Given the description of an element on the screen output the (x, y) to click on. 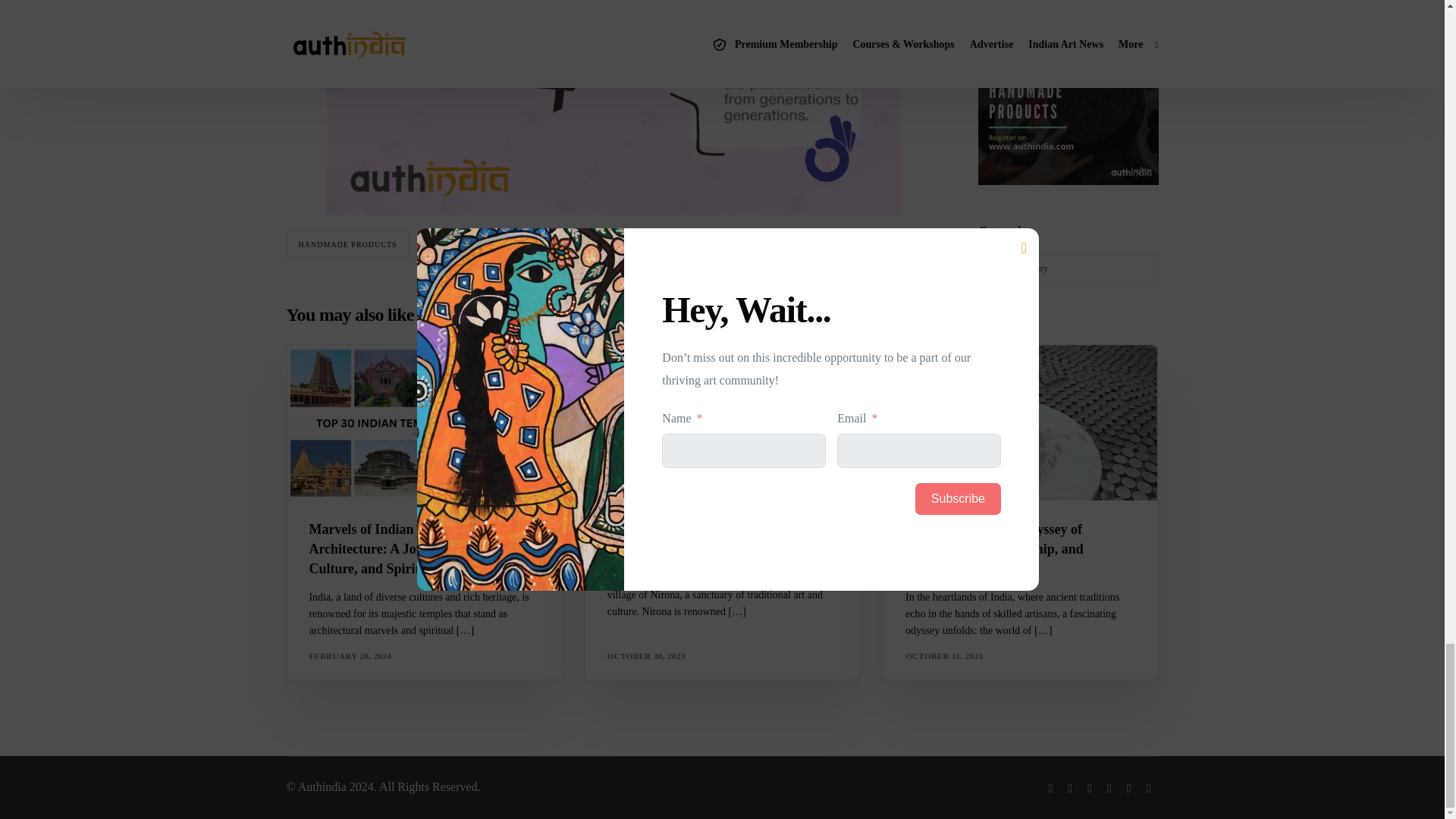
View Post: Rogan Art of Nirona: Preserving the Heritage  (722, 539)
INDIAN ARTISTS (463, 244)
Rogan Art of Nirona: Preserving the Heritage (722, 539)
INDIAN HANDICRAFTS (577, 244)
 View Post: Rogan Art of Nirona: Preserving the Heritage (722, 422)
HANDMADE PRODUCTS (347, 244)
